Given the description of an element on the screen output the (x, y) to click on. 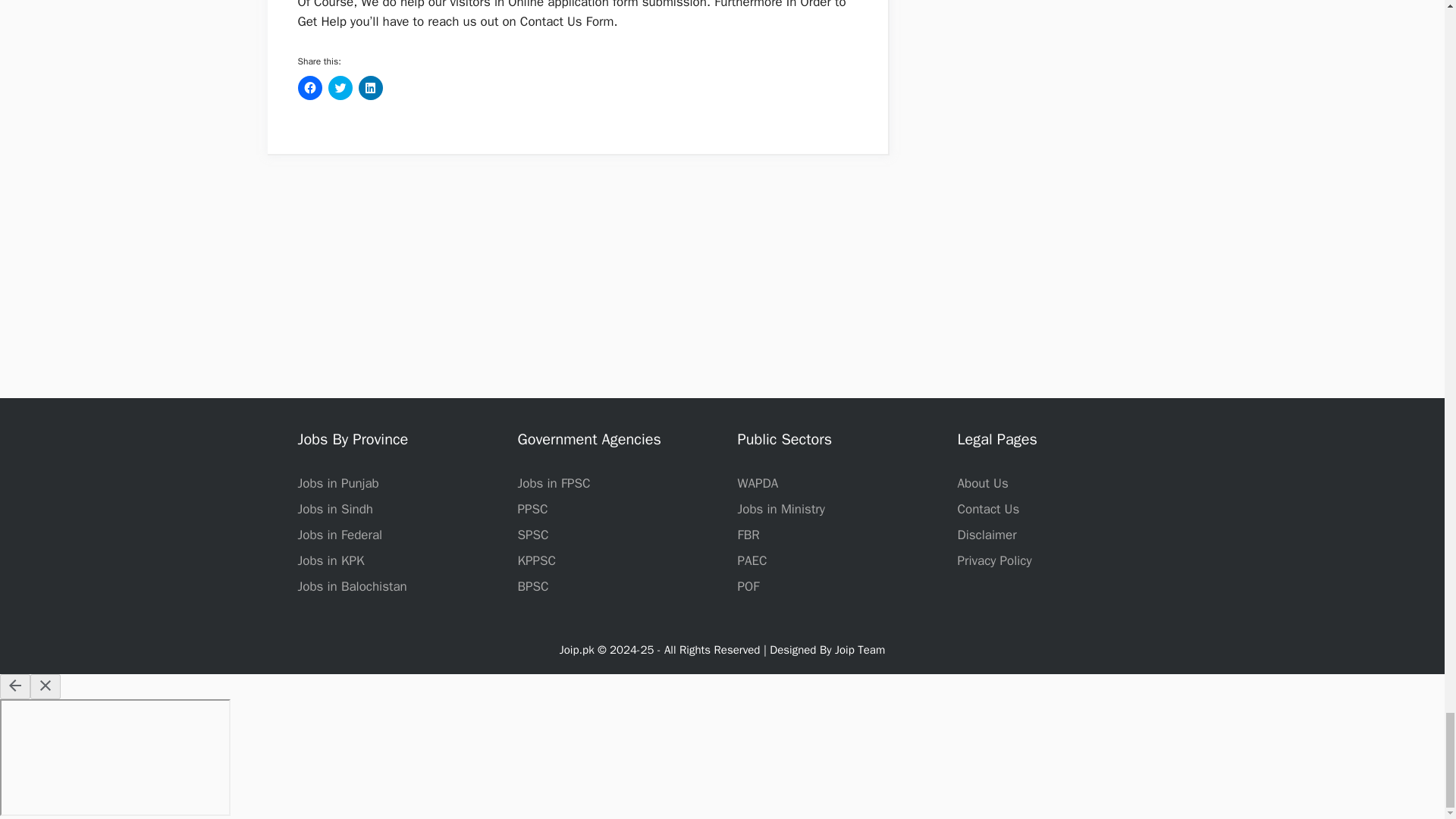
Click to share on Twitter (339, 87)
Click to share on Facebook (309, 87)
Click to share on LinkedIn (369, 87)
